Given the description of an element on the screen output the (x, y) to click on. 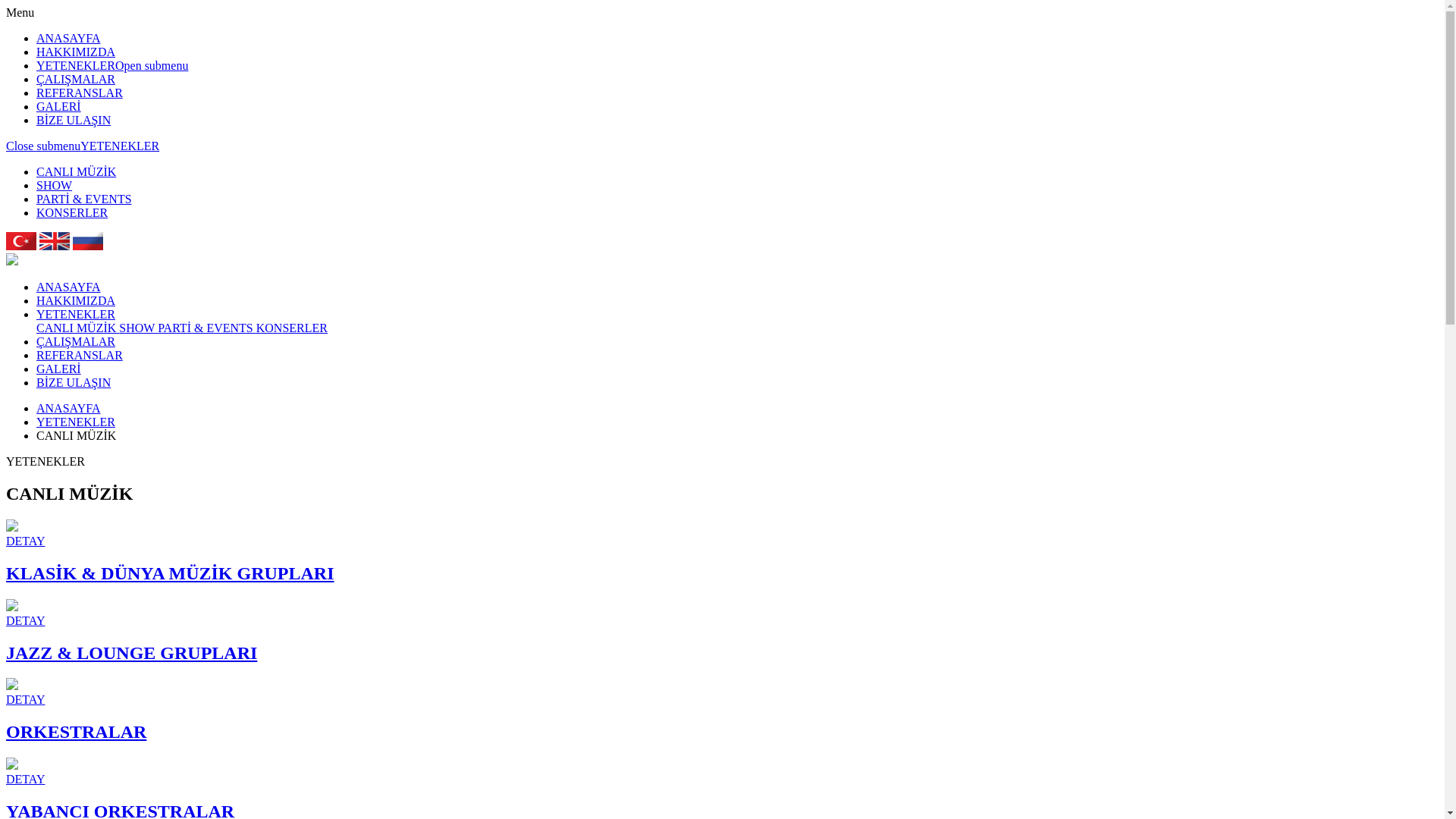
ANASAYFA Element type: text (68, 286)
DETAY
ORKESTRALAR Element type: text (722, 709)
YETENEKLEROpen submenu Element type: text (112, 65)
Close submenu Element type: text (43, 145)
ANASAYFA Element type: text (68, 37)
Menu Element type: text (20, 12)
YETENEKLER Element type: text (75, 421)
HAKKIMIZDA Element type: text (75, 51)
REFERANSLAR Element type: text (79, 92)
SHOW Element type: text (138, 327)
REFERANSLAR Element type: text (79, 354)
YETENEKLER Element type: text (75, 313)
YETENEKLER Element type: text (119, 145)
ANASAYFA Element type: text (68, 407)
KONSERLER Element type: text (291, 327)
SHOW Element type: text (54, 184)
HAKKIMIZDA Element type: text (75, 300)
KONSERLER Element type: text (71, 212)
DETAY
JAZZ & LOUNGE GRUPLARI Element type: text (722, 631)
